Given the description of an element on the screen output the (x, y) to click on. 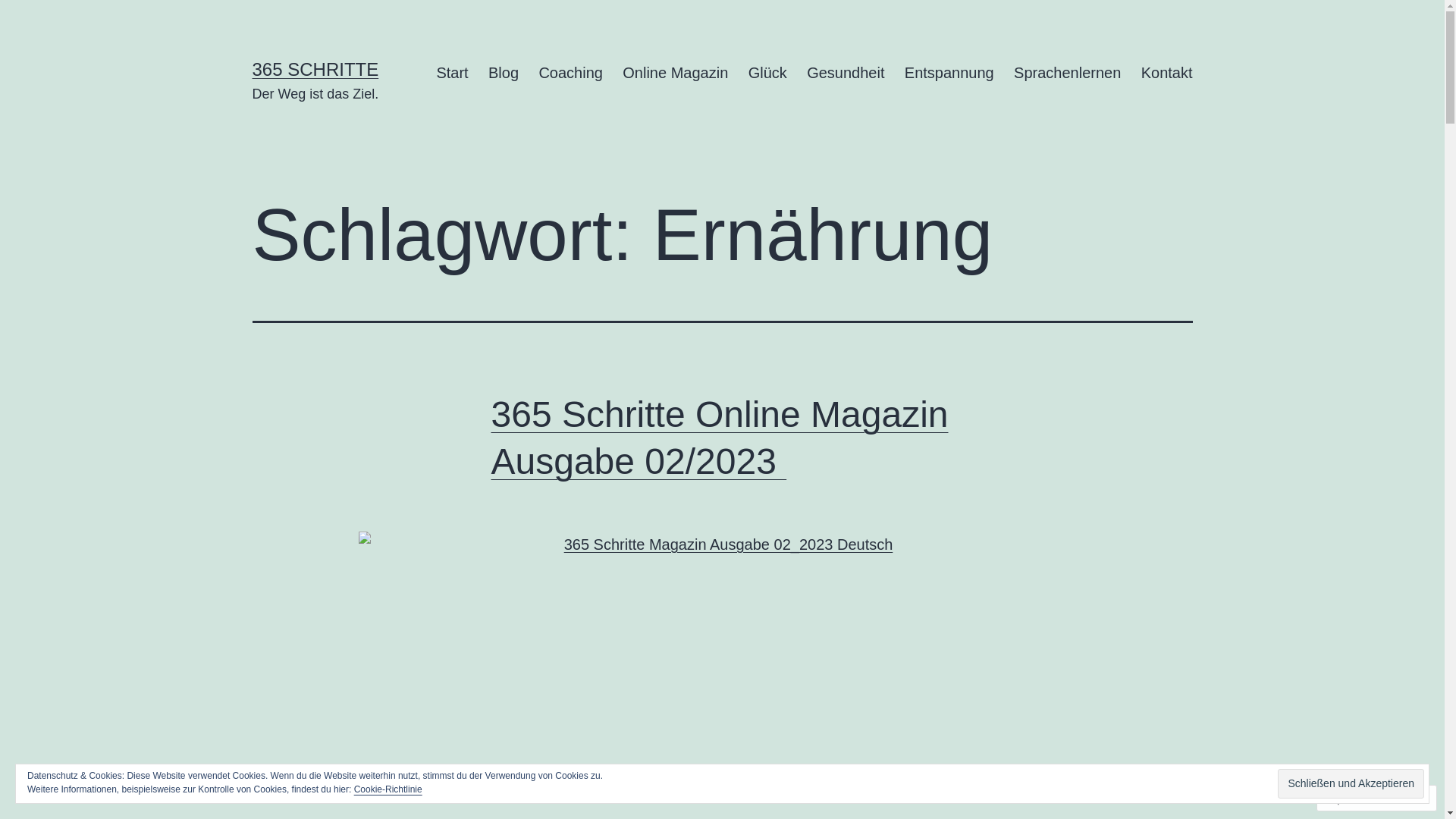
Sprachenlernen Element type: text (1067, 72)
Kontakt Element type: text (1165, 72)
Entspannung Element type: text (949, 72)
Start Element type: text (452, 72)
365 Schritte Online Magazin Ausgabe 02/2023  Element type: text (719, 437)
Coaching Element type: text (570, 72)
Cookie-Richtlinie Element type: text (388, 789)
Gesundheit Element type: text (845, 72)
365 SCHRITTE Element type: text (314, 69)
Blog Element type: text (503, 72)
Online Magazin Element type: text (674, 72)
Abonnieren Element type: text (1361, 797)
